Given the description of an element on the screen output the (x, y) to click on. 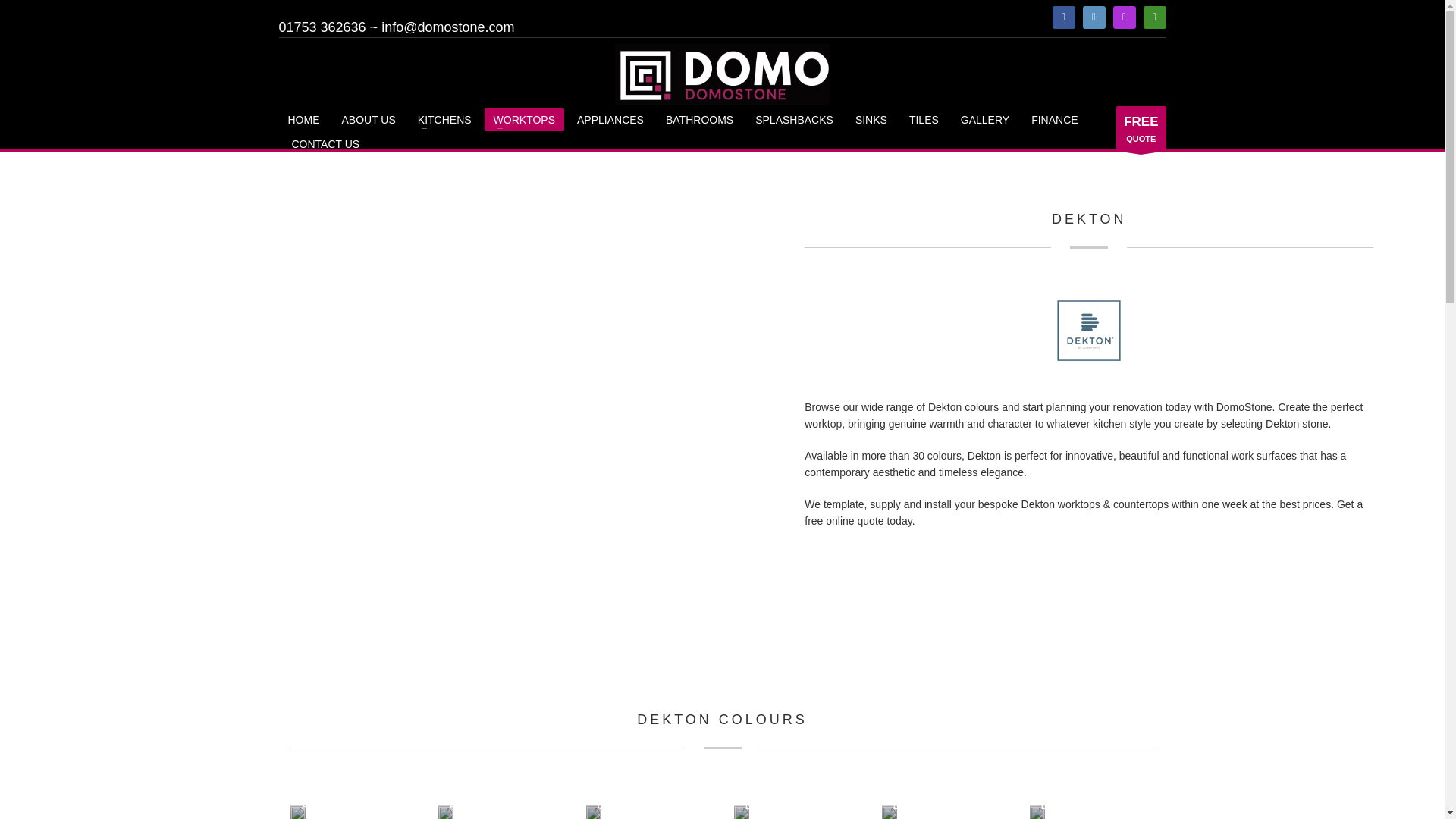
Blanc Concrete (592, 811)
HOME (304, 119)
TILES (923, 119)
ABOUT US (367, 119)
Aura (445, 811)
Instagram (1124, 16)
Danae (1037, 811)
01753 362636 (322, 27)
Google Business  (1094, 16)
KITCHENS (444, 119)
Blaze (741, 811)
WhatsApp (1154, 16)
WORKTOPS (524, 119)
SINKS (870, 119)
SPLASHBACKS (794, 119)
